Given the description of an element on the screen output the (x, y) to click on. 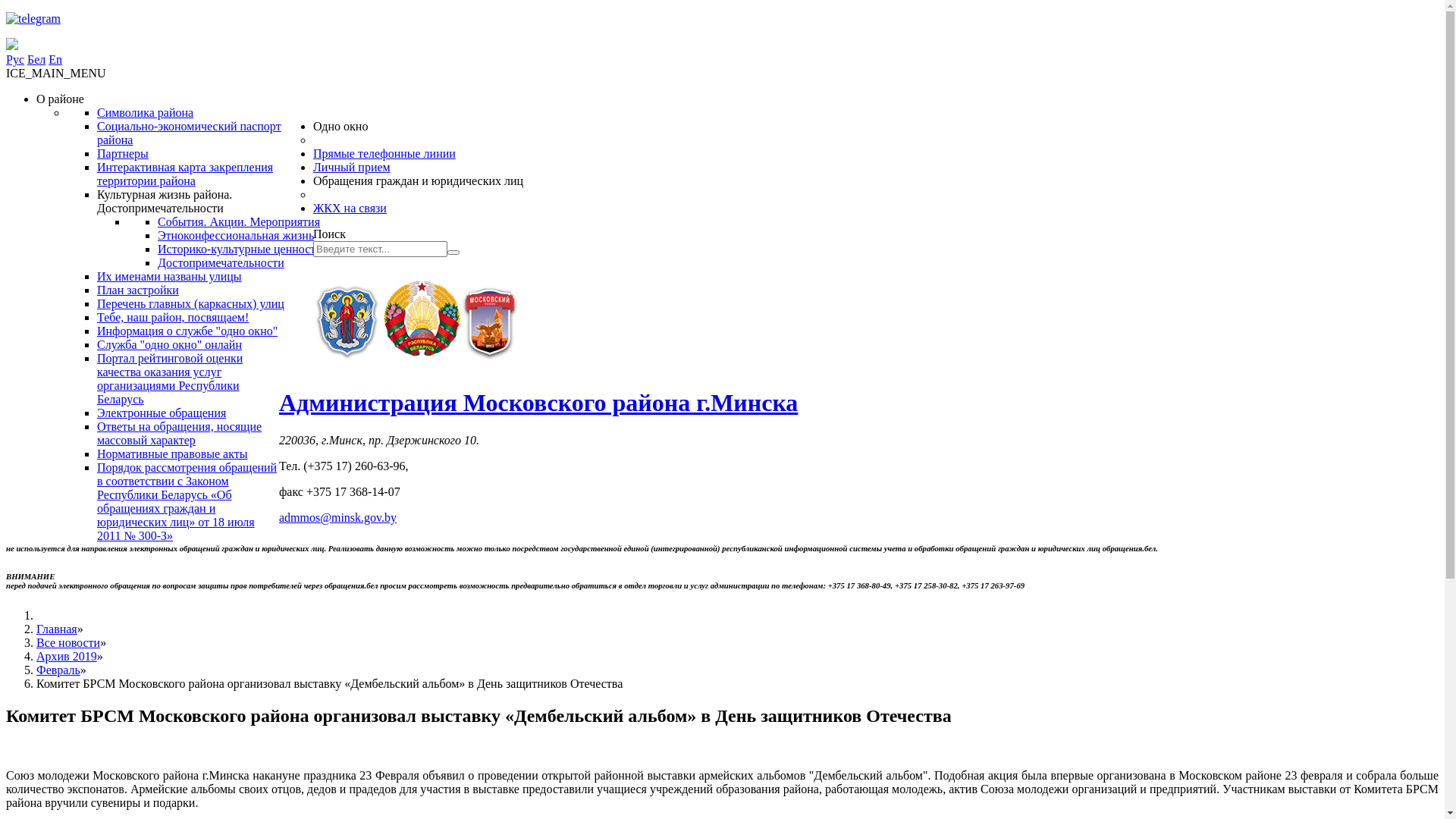
admmos@minsk.gov.by Element type: text (337, 517)
ICE_MAIN_MENU Element type: text (56, 72)
En Element type: text (55, 59)
